Given the description of an element on the screen output the (x, y) to click on. 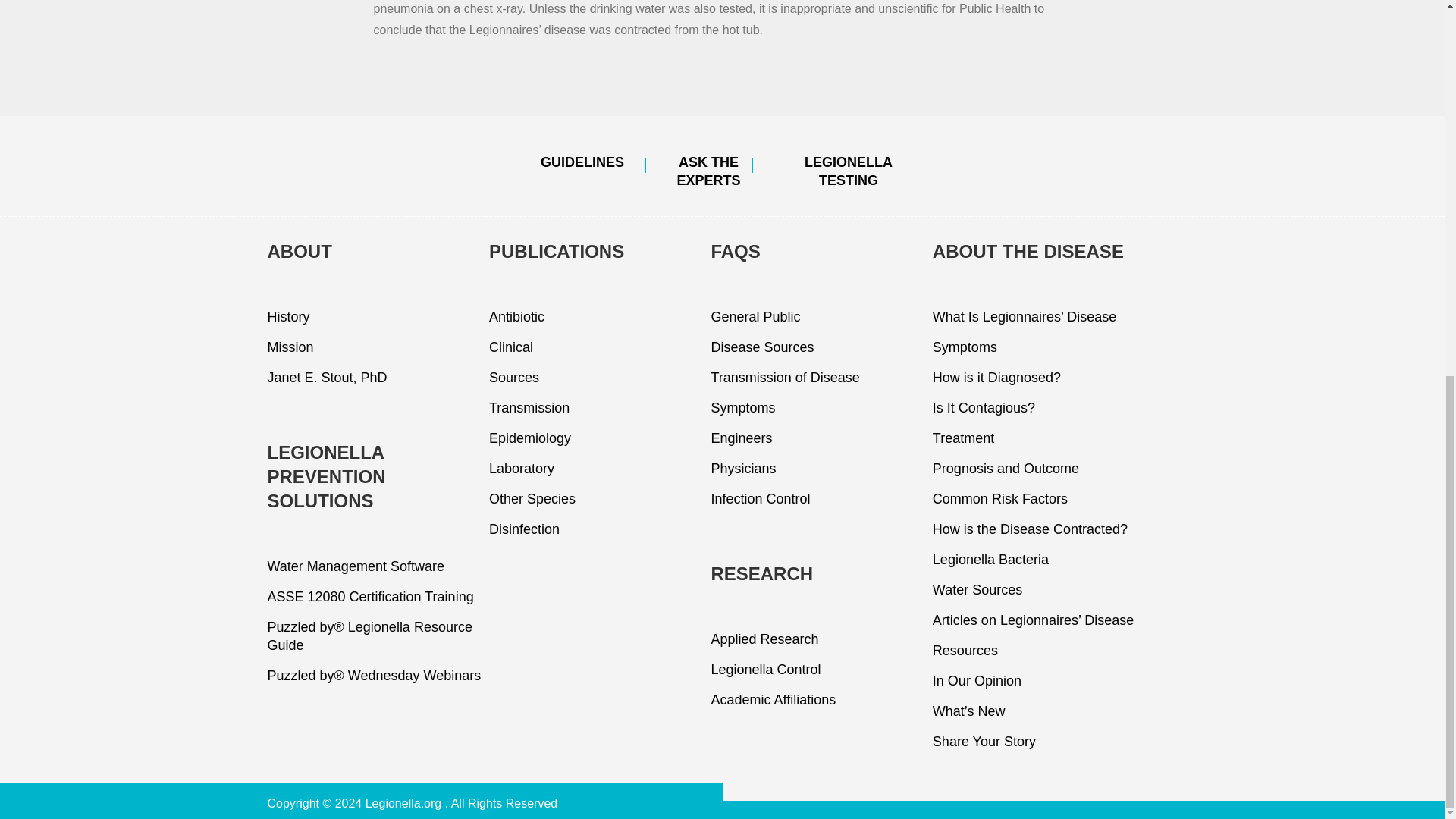
General Public (819, 317)
Sources (598, 377)
ASK THE EXPERTS (708, 171)
Disinfection (598, 529)
Epidemiology (598, 438)
Laboratory (598, 468)
Janet E. Stout, PhD (375, 377)
Transmission of Disease (819, 377)
Water Management Software (375, 566)
Clinical (598, 347)
